Given the description of an element on the screen output the (x, y) to click on. 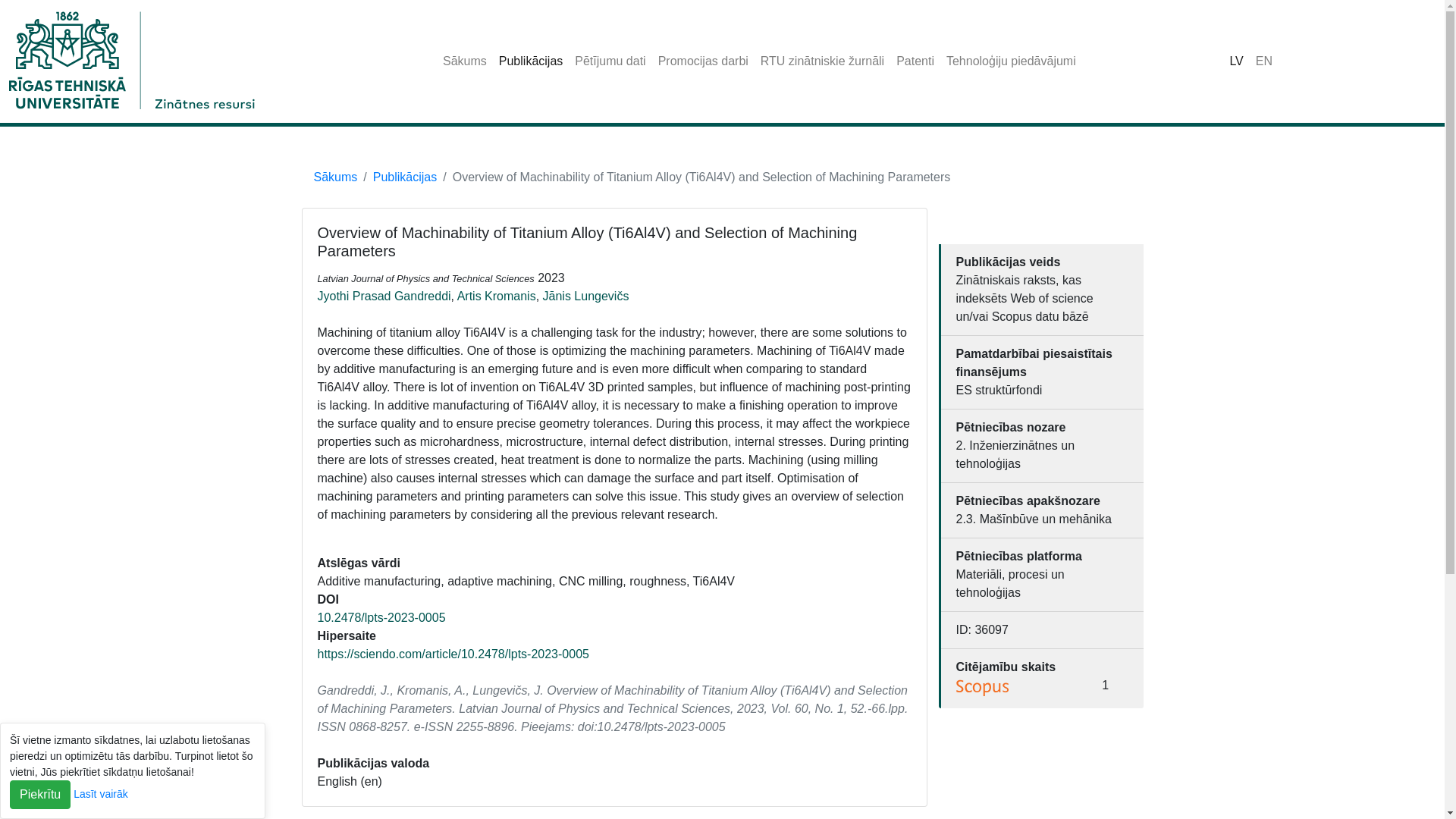
Artis Kromanis (496, 295)
Jyothi Prasad Gandreddi (383, 295)
Patenti (914, 60)
Promocijas darbi (703, 60)
EN (1263, 60)
Scopus (982, 687)
